Given the description of an element on the screen output the (x, y) to click on. 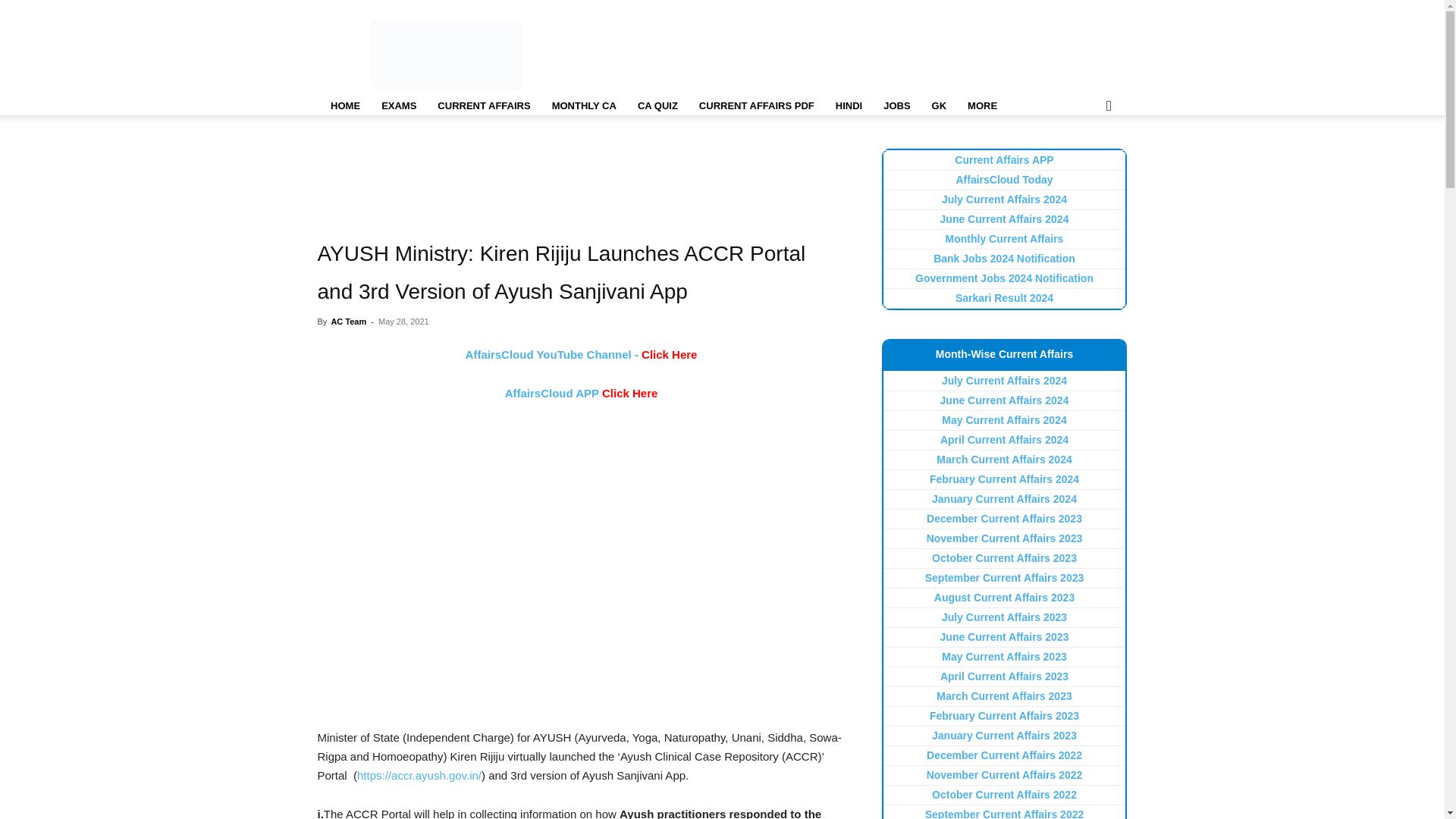
Current Affairs (483, 105)
Current Affairs Quiz (657, 105)
AffairsCloud (446, 55)
Home (344, 105)
Current Affairs PDF (756, 105)
Current Affairs Hindi (848, 105)
